Given the description of an element on the screen output the (x, y) to click on. 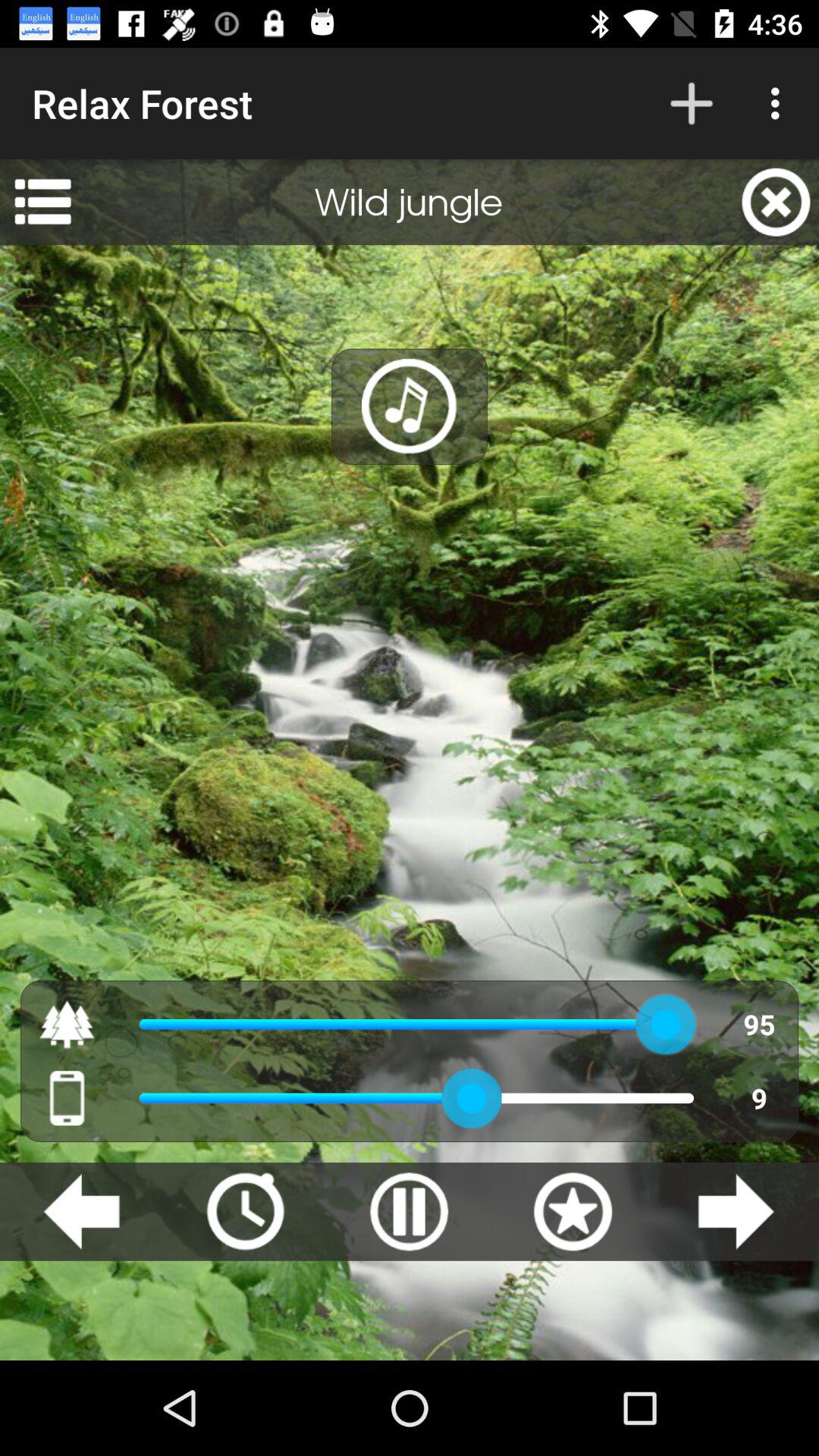
select the app to the right of the relax forest item (691, 103)
